Given the description of an element on the screen output the (x, y) to click on. 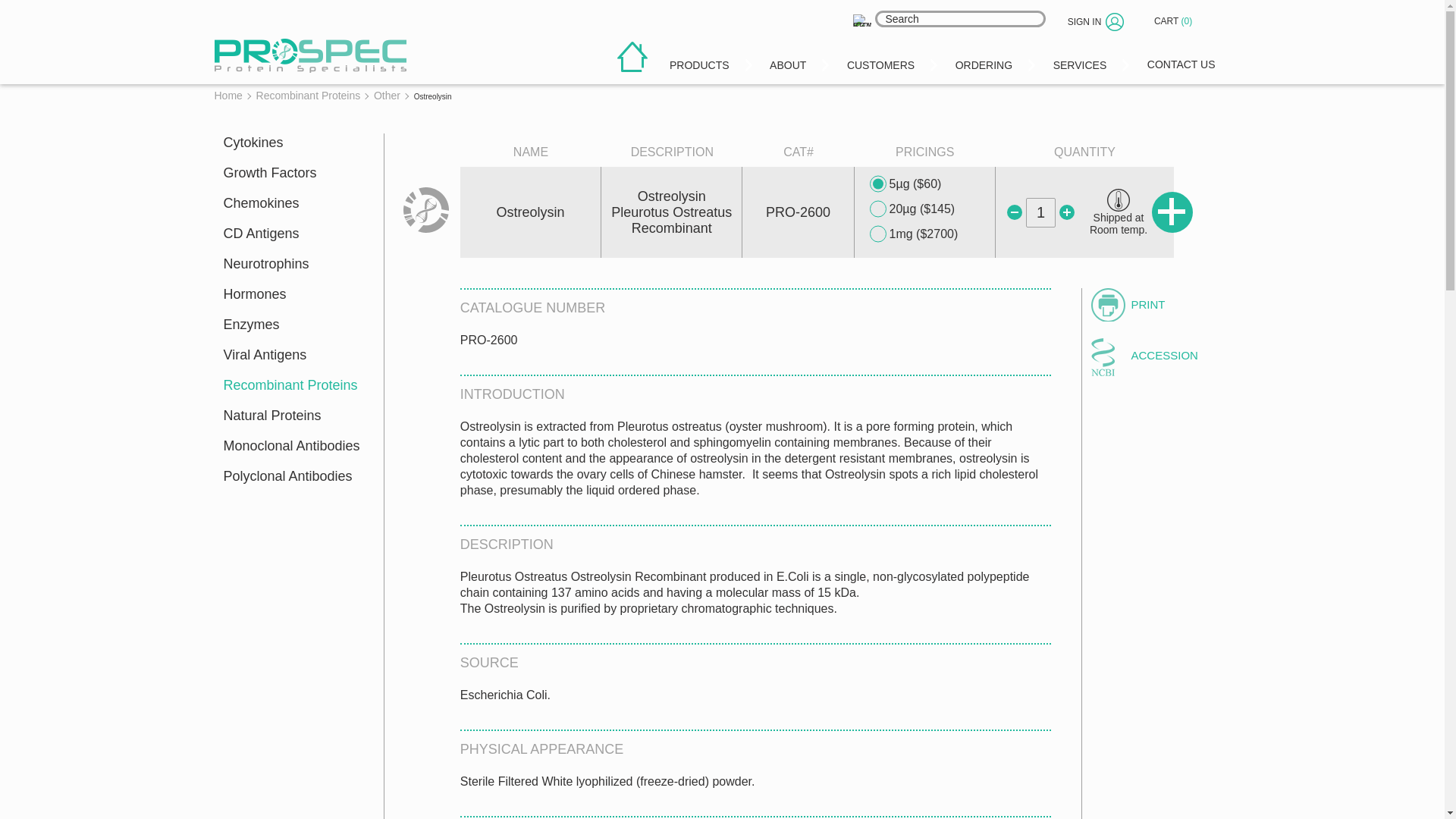
Ostreolysin (238, 78)
search icon (861, 20)
1 (1040, 211)
prospec (310, 55)
ABOUT (788, 62)
CUSTOMERS (881, 62)
PRODUCTS (700, 62)
ORDERING (983, 62)
home (632, 56)
SERVICES (1080, 62)
